Given the description of an element on the screen output the (x, y) to click on. 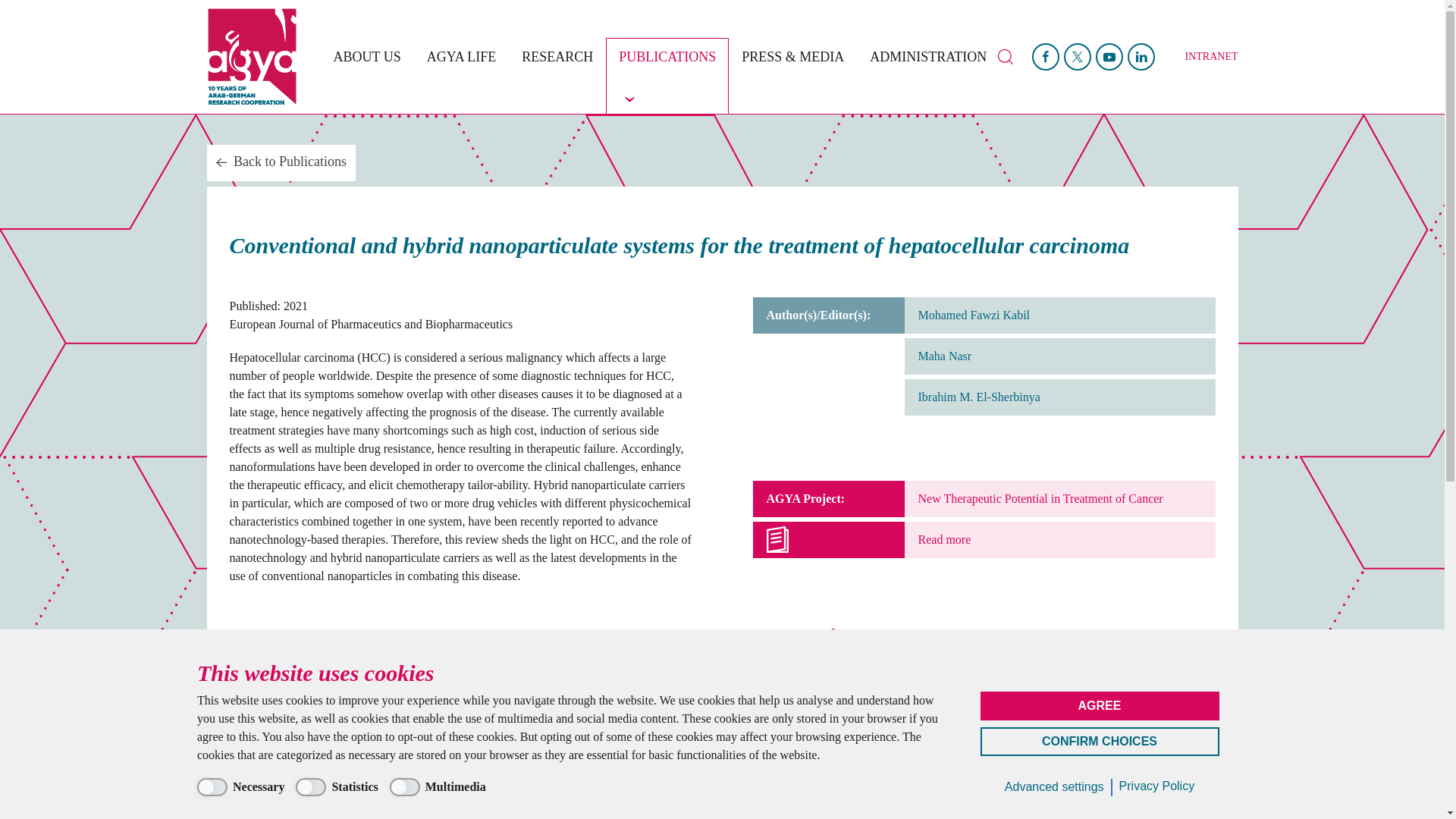
About us (367, 75)
ABOUT US (367, 75)
Research (557, 75)
PUBLICATIONS (667, 75)
RESEARCH (557, 75)
AGYA LIFE (461, 75)
AGYA Life (461, 75)
Arab-German Young Academy (263, 56)
Arab-German Young Academy (263, 56)
